Given the description of an element on the screen output the (x, y) to click on. 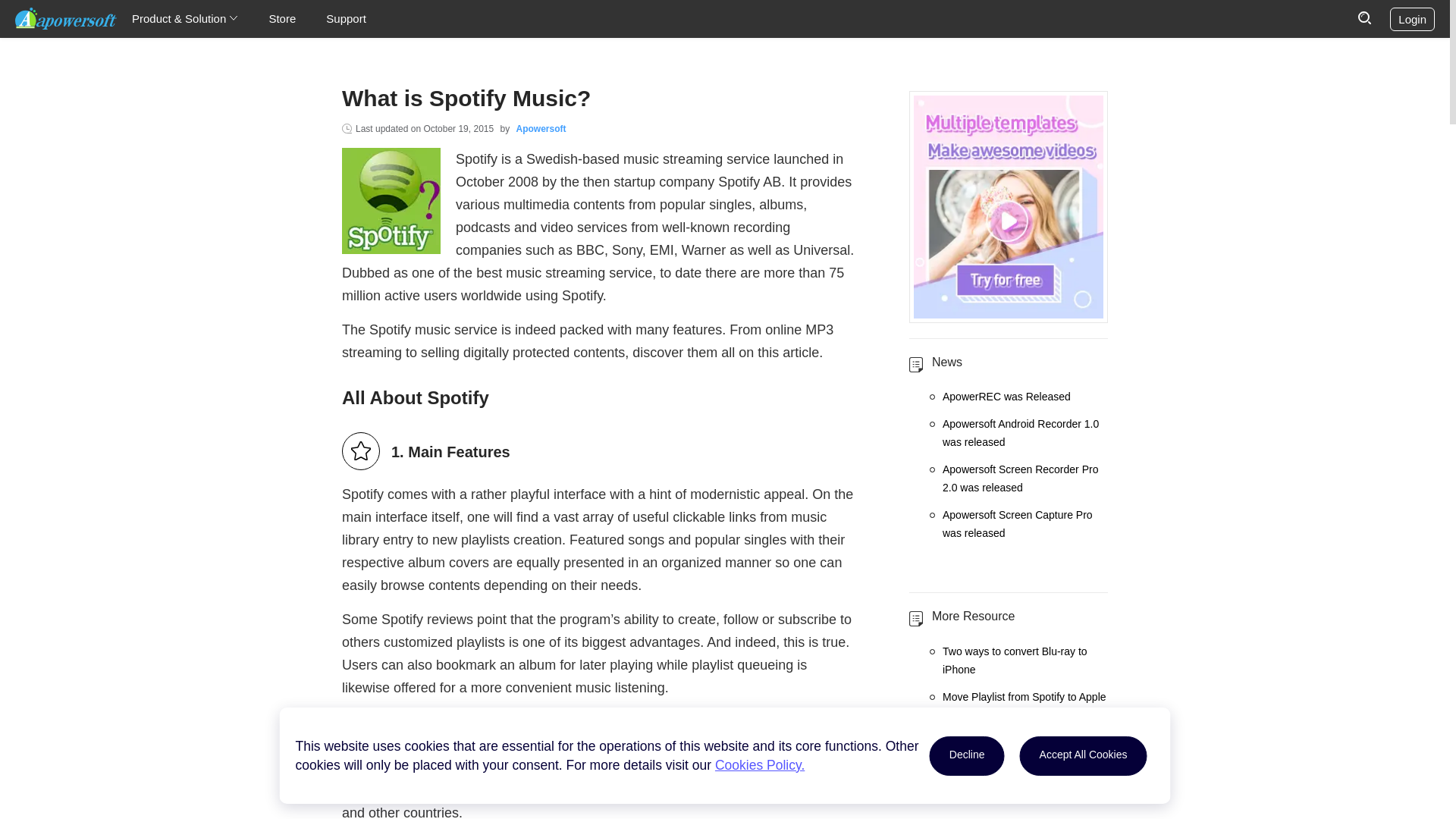
Support (346, 18)
Store (281, 18)
Apowersoft (65, 18)
Apowersoft (540, 128)
